Given the description of an element on the screen output the (x, y) to click on. 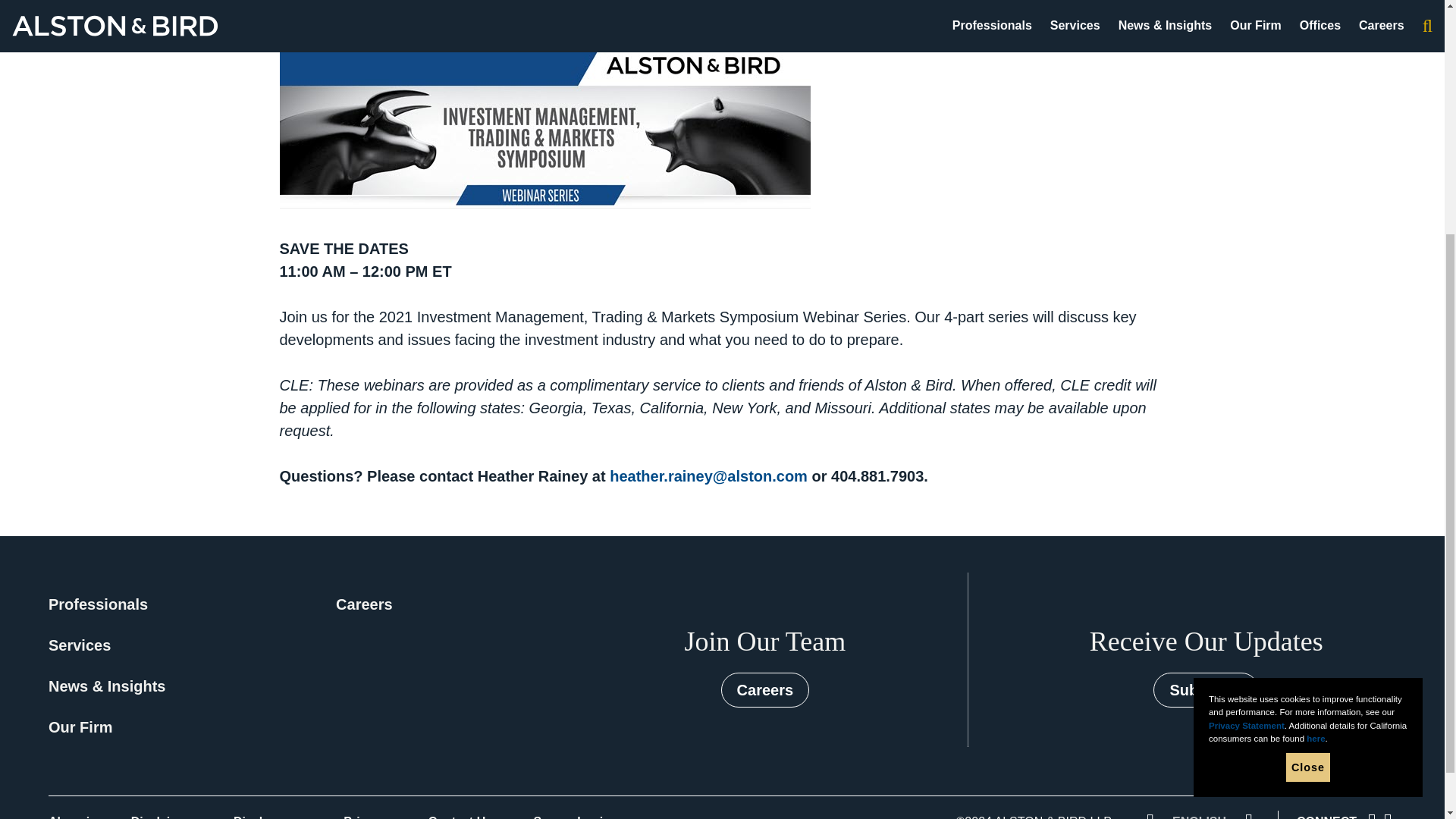
Close (1307, 427)
Overview (328, 9)
Panel 1: Investing in Digital Assets (523, 9)
Panel 2: Secondaries: State of the U.S. and European Markets (910, 9)
